Given the description of an element on the screen output the (x, y) to click on. 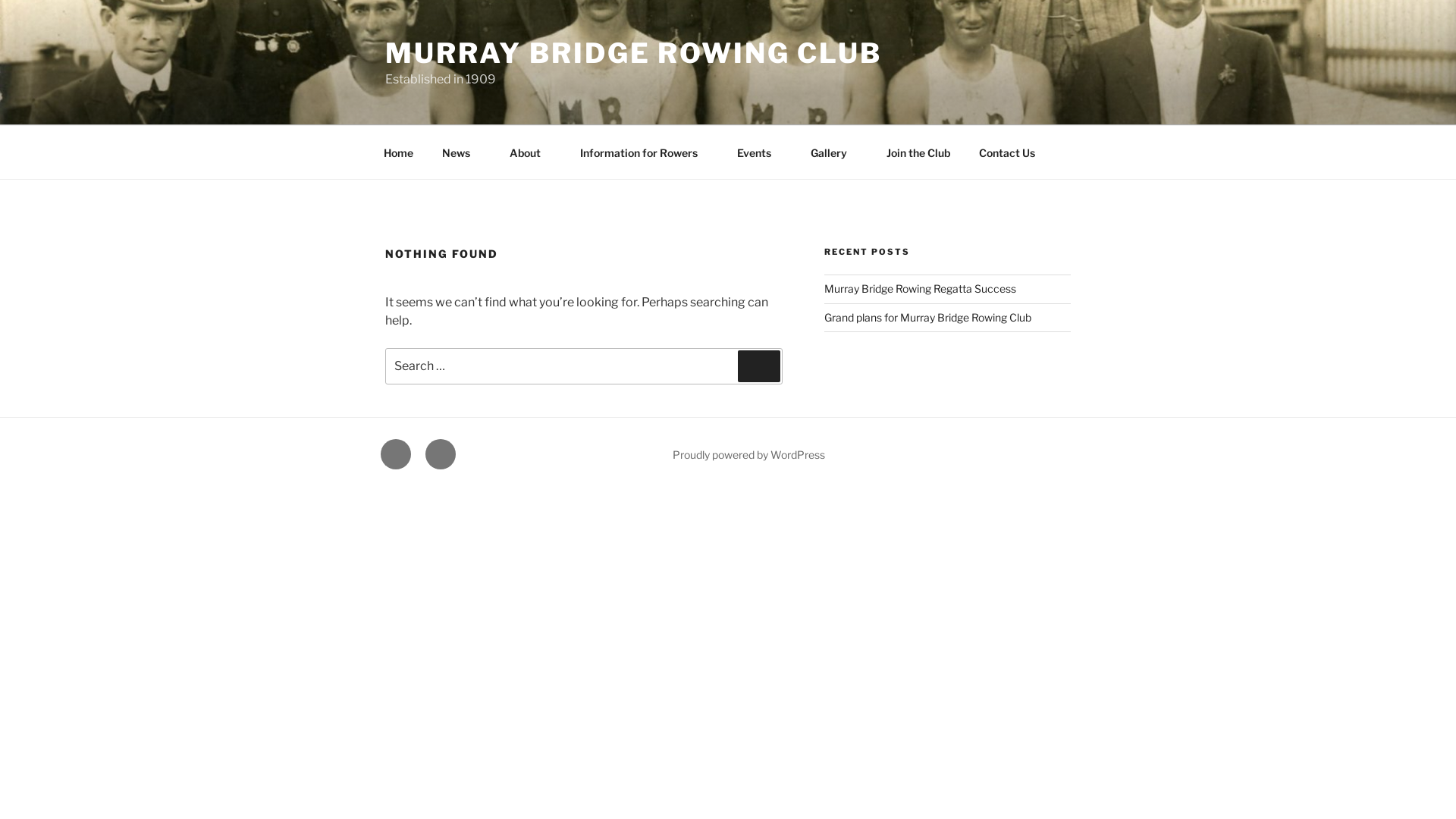
Proudly powered by WordPress Element type: text (748, 454)
Search Element type: text (758, 366)
Facebook Element type: text (395, 454)
News Element type: text (460, 151)
Grand plans for Murray Bridge Rowing Club Element type: text (927, 316)
Join the Club Element type: text (917, 151)
About Element type: text (529, 151)
Home Element type: text (398, 151)
Contact Us Element type: text (1006, 151)
Information for Rowers Element type: text (643, 151)
Instagram Element type: text (440, 454)
Events Element type: text (758, 151)
Murray Bridge Rowing Regatta Success Element type: text (920, 288)
Gallery Element type: text (833, 151)
Skip to content Element type: text (0, 0)
MURRAY BRIDGE ROWING CLUB Element type: text (633, 52)
